Given the description of an element on the screen output the (x, y) to click on. 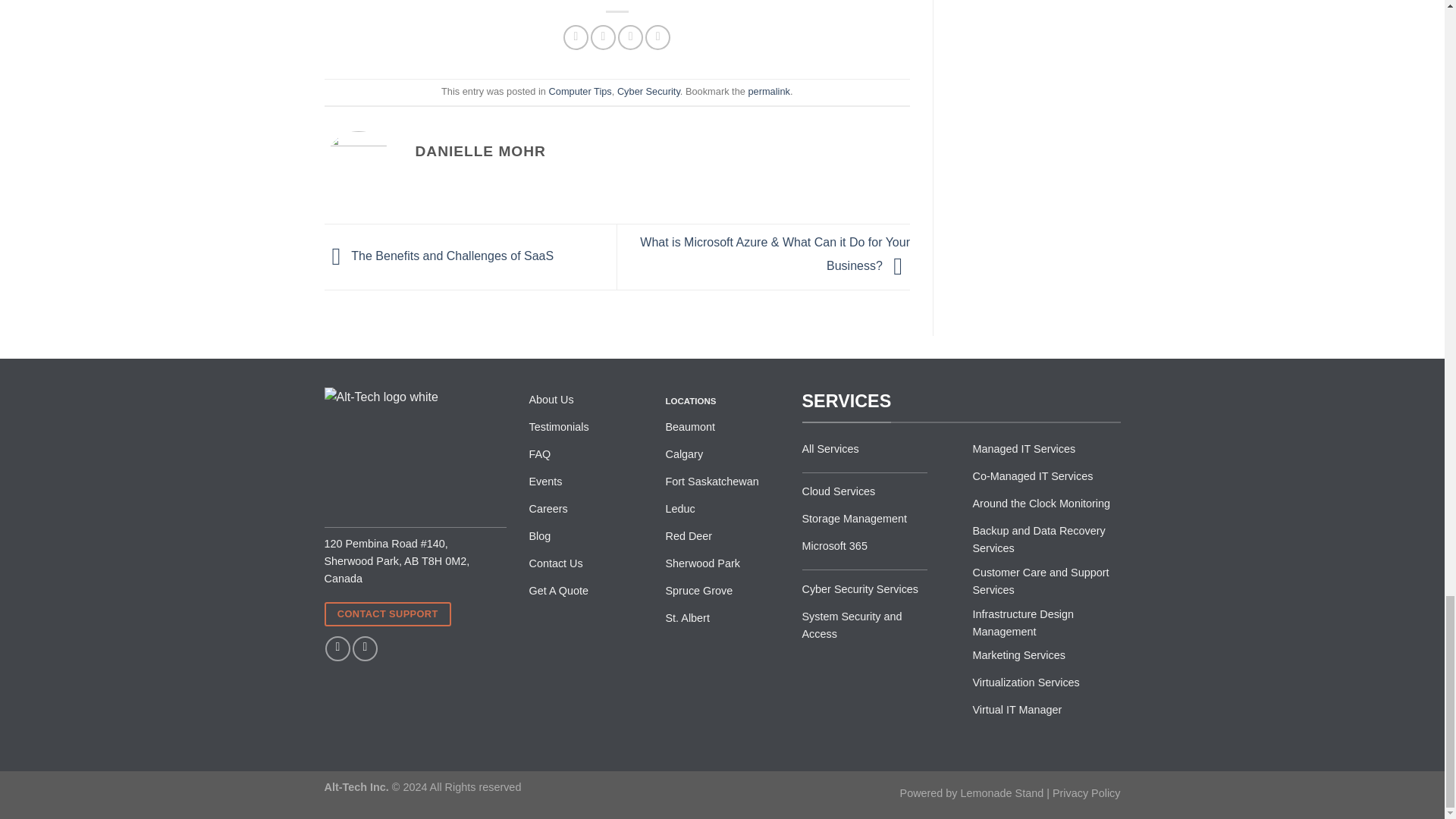
Email to a Friend (630, 37)
Follow on Facebook (337, 648)
Follow on LinkedIn (364, 648)
Share on Twitter (603, 37)
Share on Facebook (575, 37)
Share on LinkedIn (657, 37)
